Given the description of an element on the screen output the (x, y) to click on. 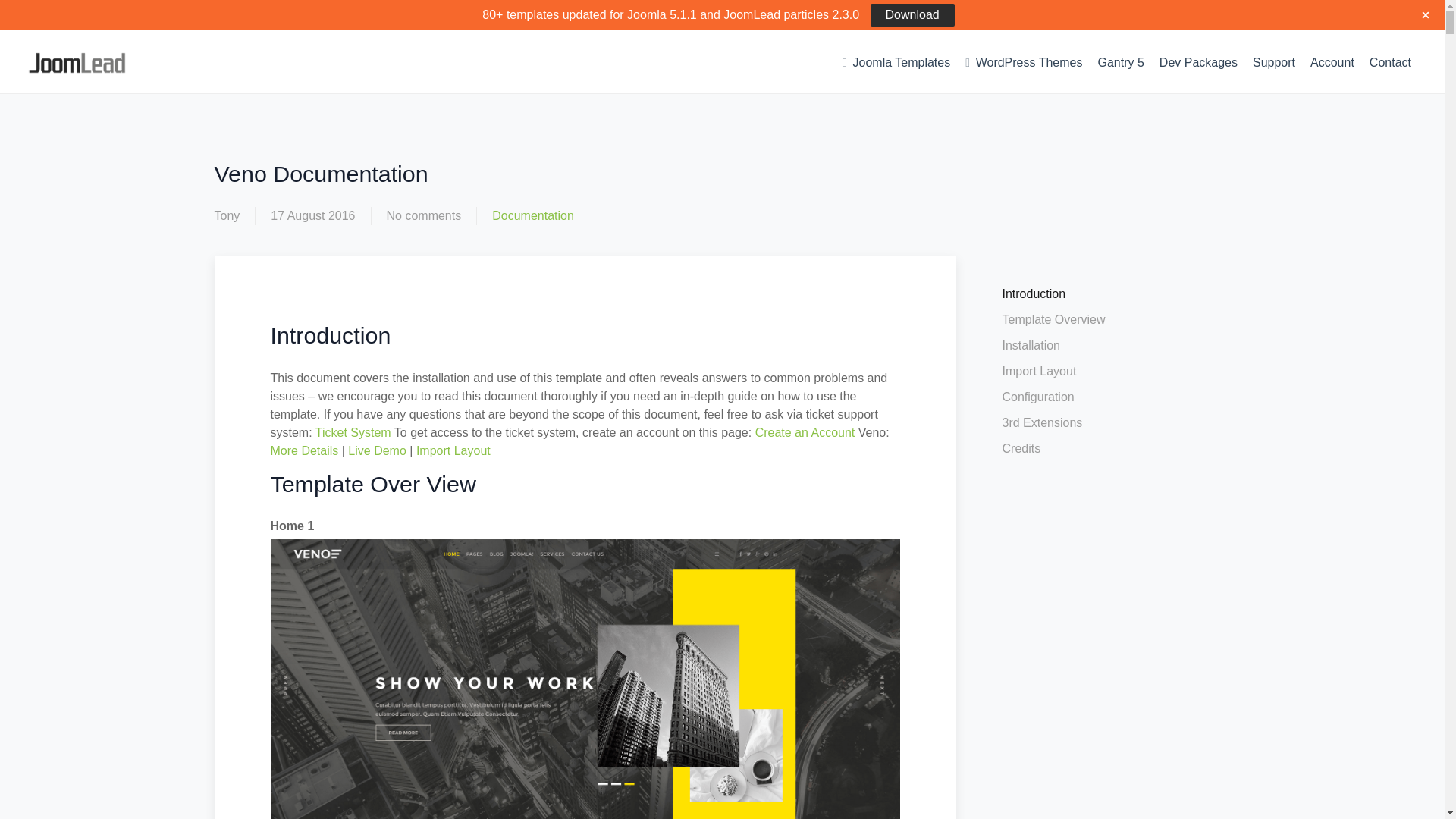
Live Demo (376, 450)
Contact (1389, 62)
Documentation (532, 215)
Dev Packages (1197, 61)
Support (1273, 61)
Import Layout (453, 450)
More Details (303, 450)
Account (1332, 62)
JoomLead (108, 63)
WordPress Themes (1023, 61)
Create an Account (805, 431)
Ticket System (353, 431)
Documentation (532, 215)
Joomla Templates (896, 60)
